Given the description of an element on the screen output the (x, y) to click on. 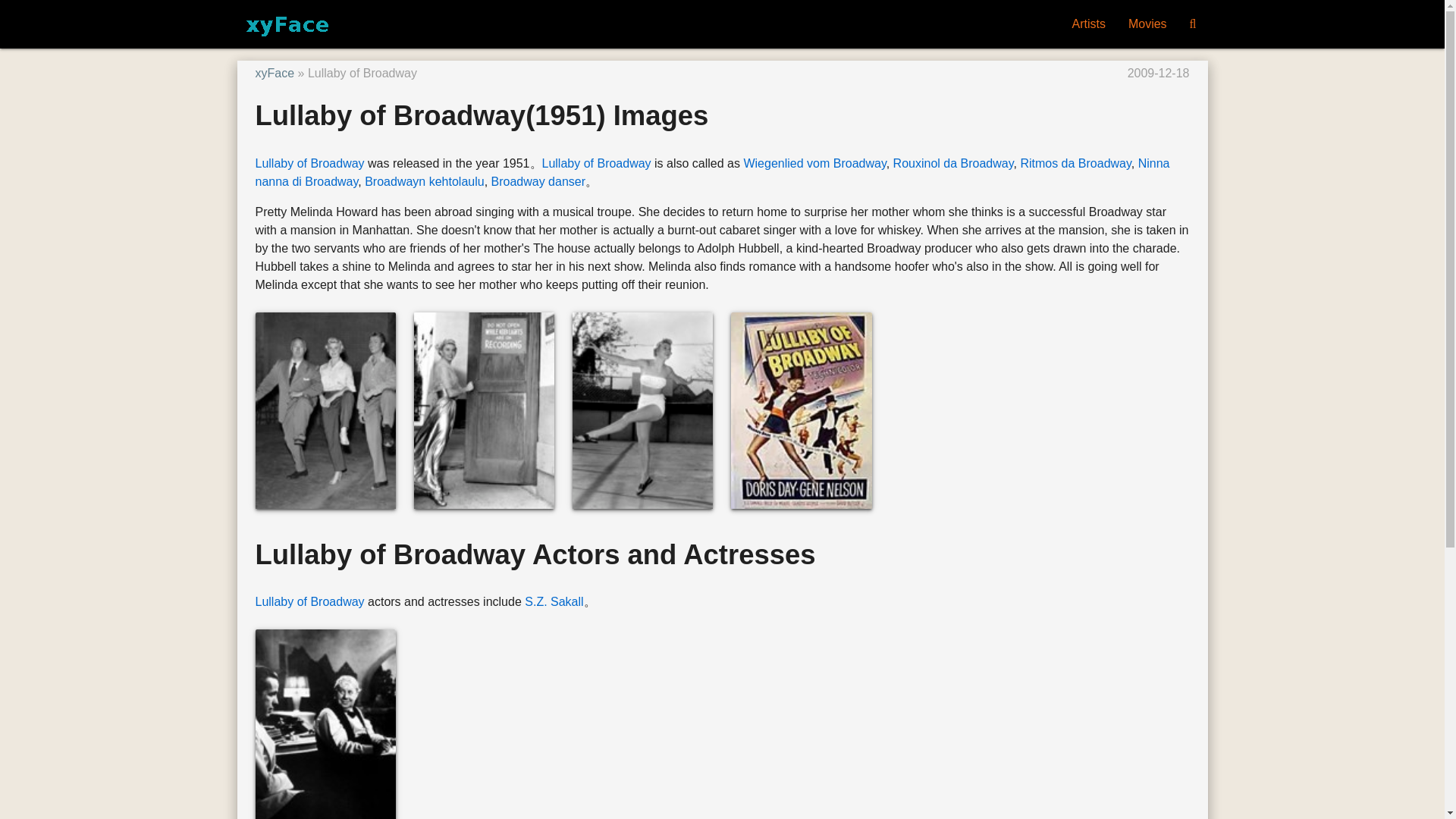
Broadway danser (539, 181)
S.Z. Sakall (553, 601)
Lullaby of Broadway (309, 163)
Ninna nanna di Broadway (711, 172)
Broadwayn kehtolaulu (424, 181)
Movies (1146, 24)
Lullaby of Broadway (595, 163)
Ritmos da Broadway (1075, 163)
Artists (1087, 24)
Wiegenlied vom Broadway (813, 163)
